Given the description of an element on the screen output the (x, y) to click on. 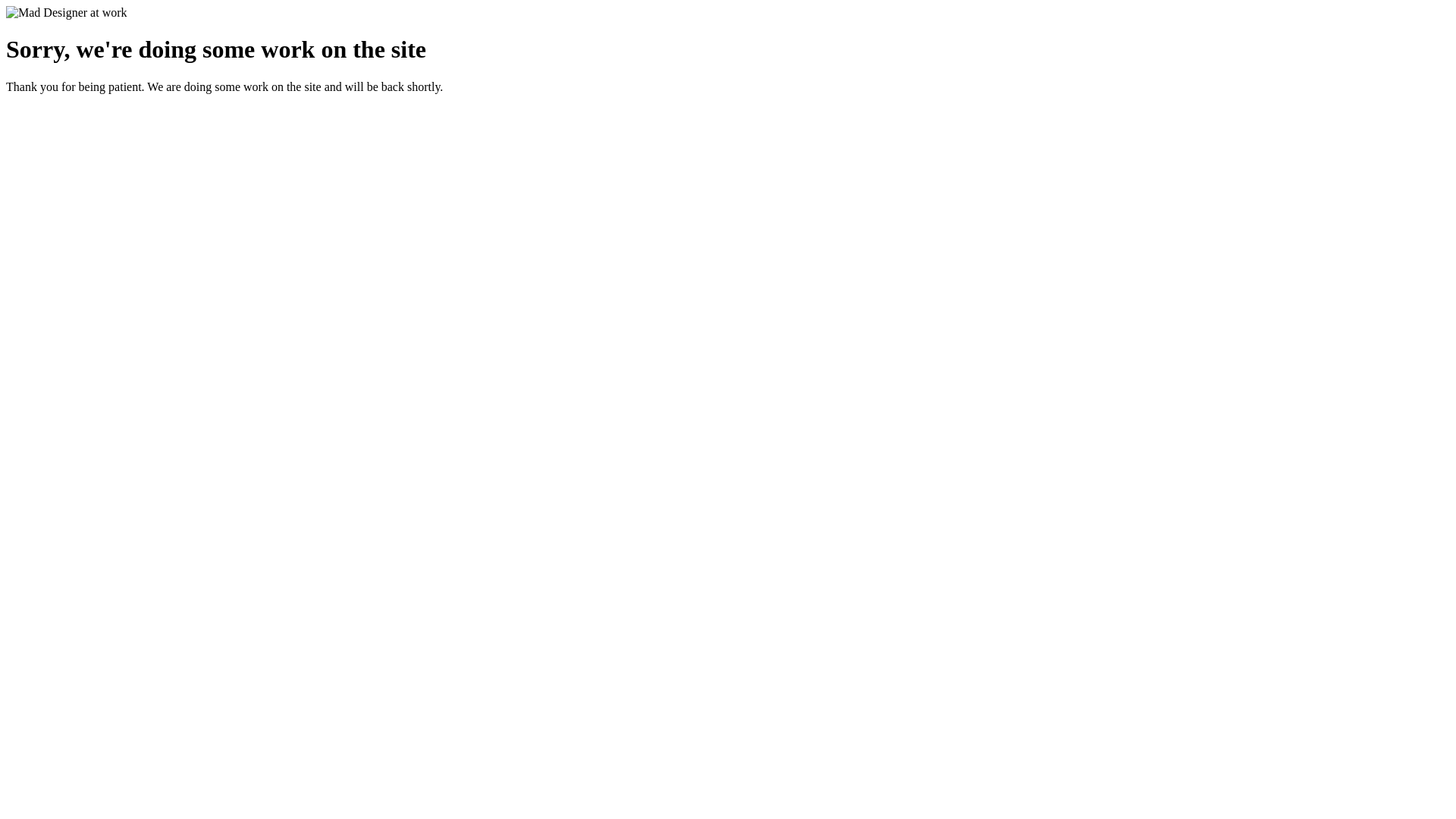
Mad Designer at work Element type: hover (66, 12)
